Given the description of an element on the screen output the (x, y) to click on. 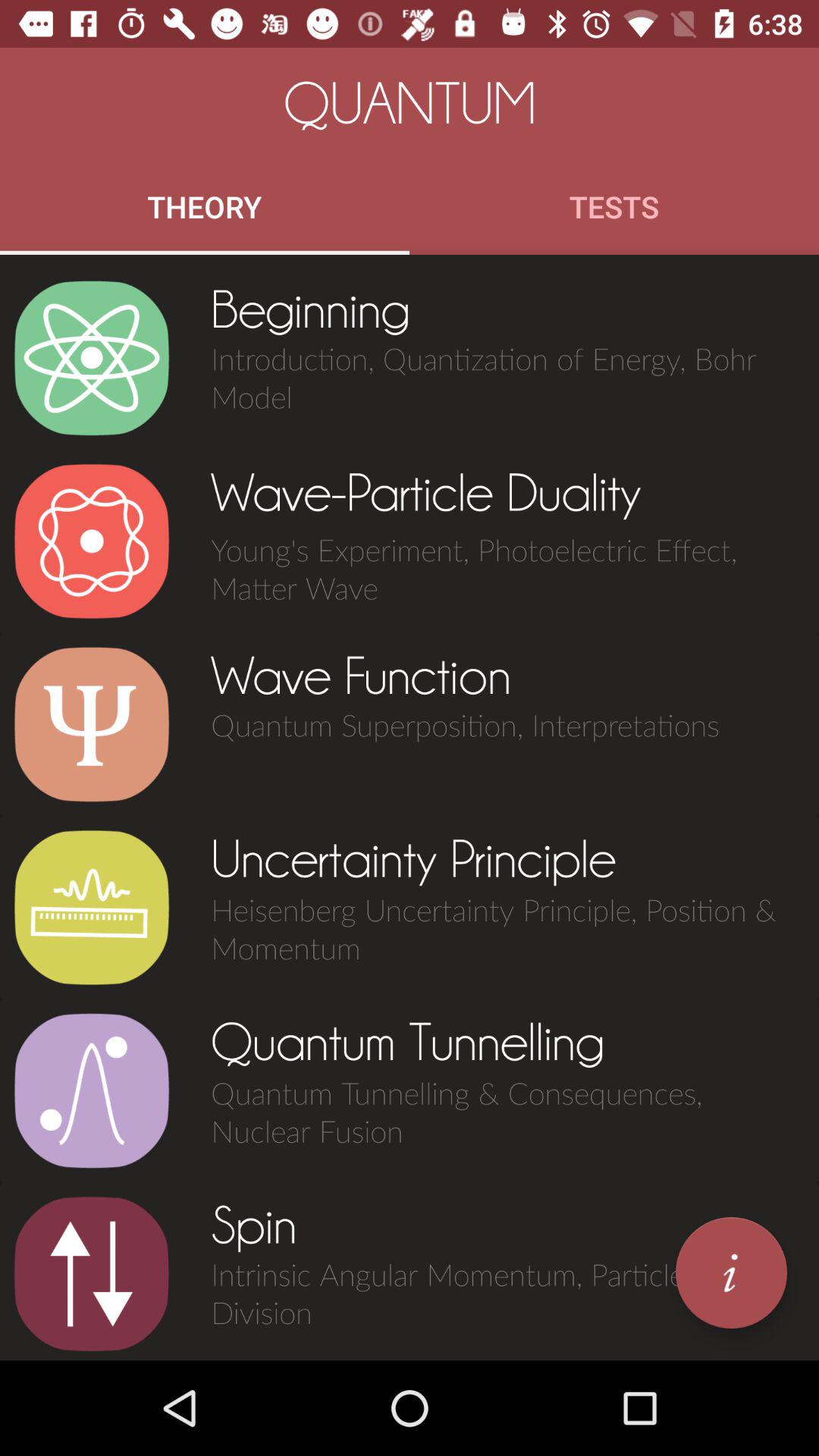
open the article (91, 907)
